Given the description of an element on the screen output the (x, y) to click on. 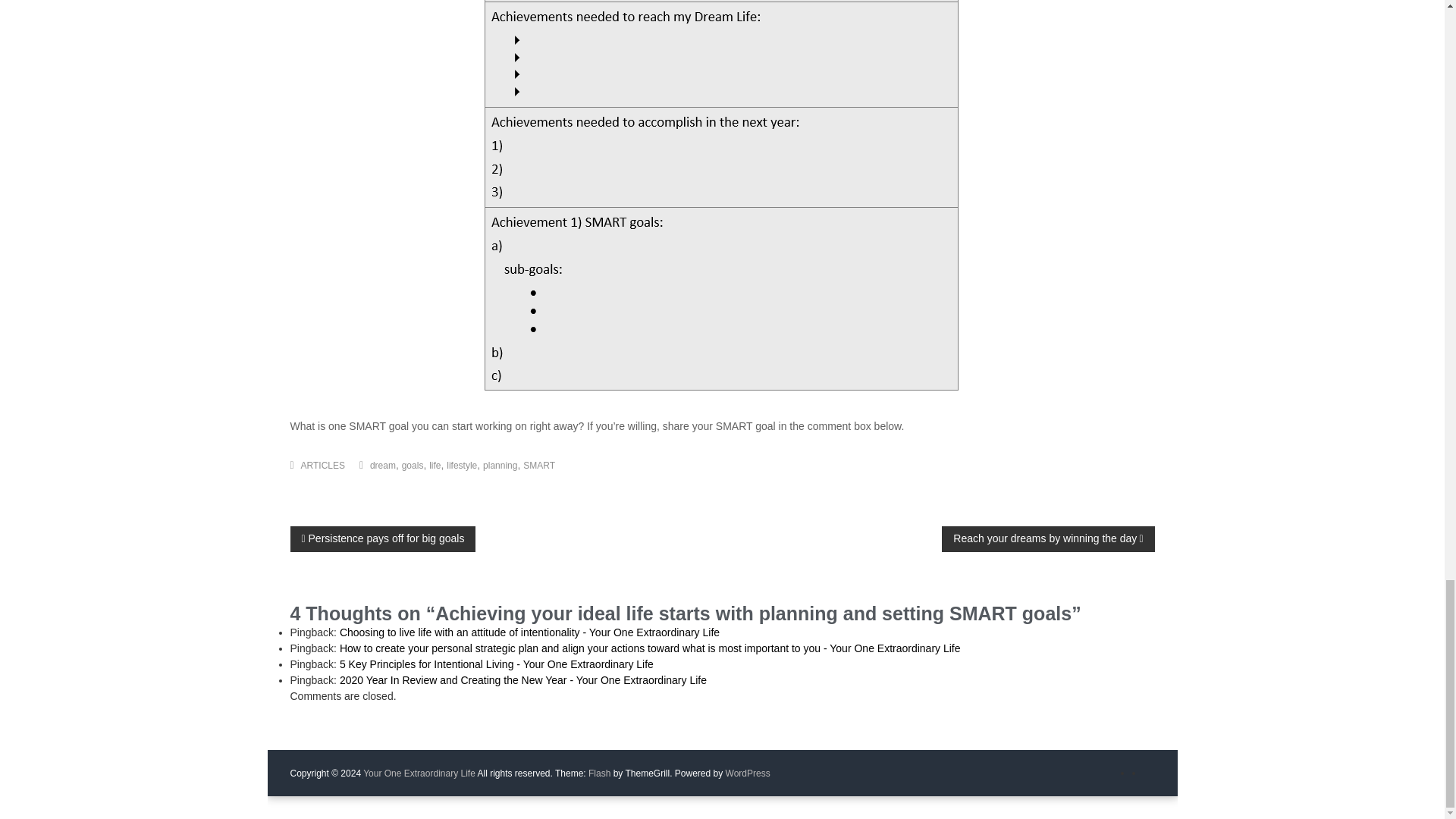
Persistence pays off for big goals (382, 538)
WordPress (747, 773)
Your One Extraordinary Life (419, 773)
planning (499, 465)
ARTICLES (323, 465)
dream (382, 465)
life (435, 465)
lifestyle (461, 465)
goals (412, 465)
SMART (538, 465)
Flash (599, 773)
